Given the description of an element on the screen output the (x, y) to click on. 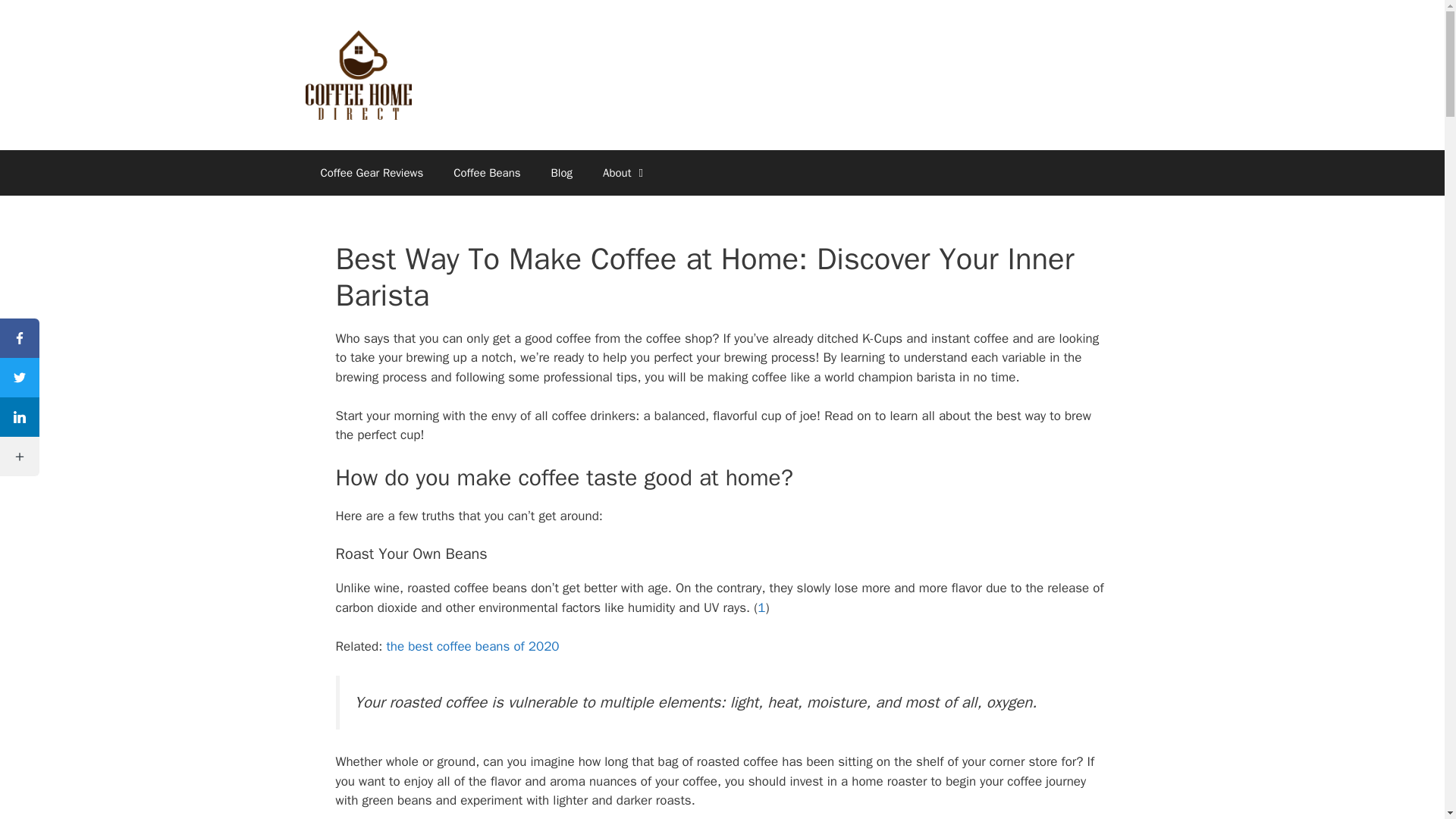
Coffee Home Direct (357, 73)
Coffee Gear Reviews (371, 172)
the best coffee beans of 2020 (470, 646)
Blog (561, 172)
Coffee Beans (486, 172)
About (625, 172)
Coffee Home Direct (357, 74)
